Given the description of an element on the screen output the (x, y) to click on. 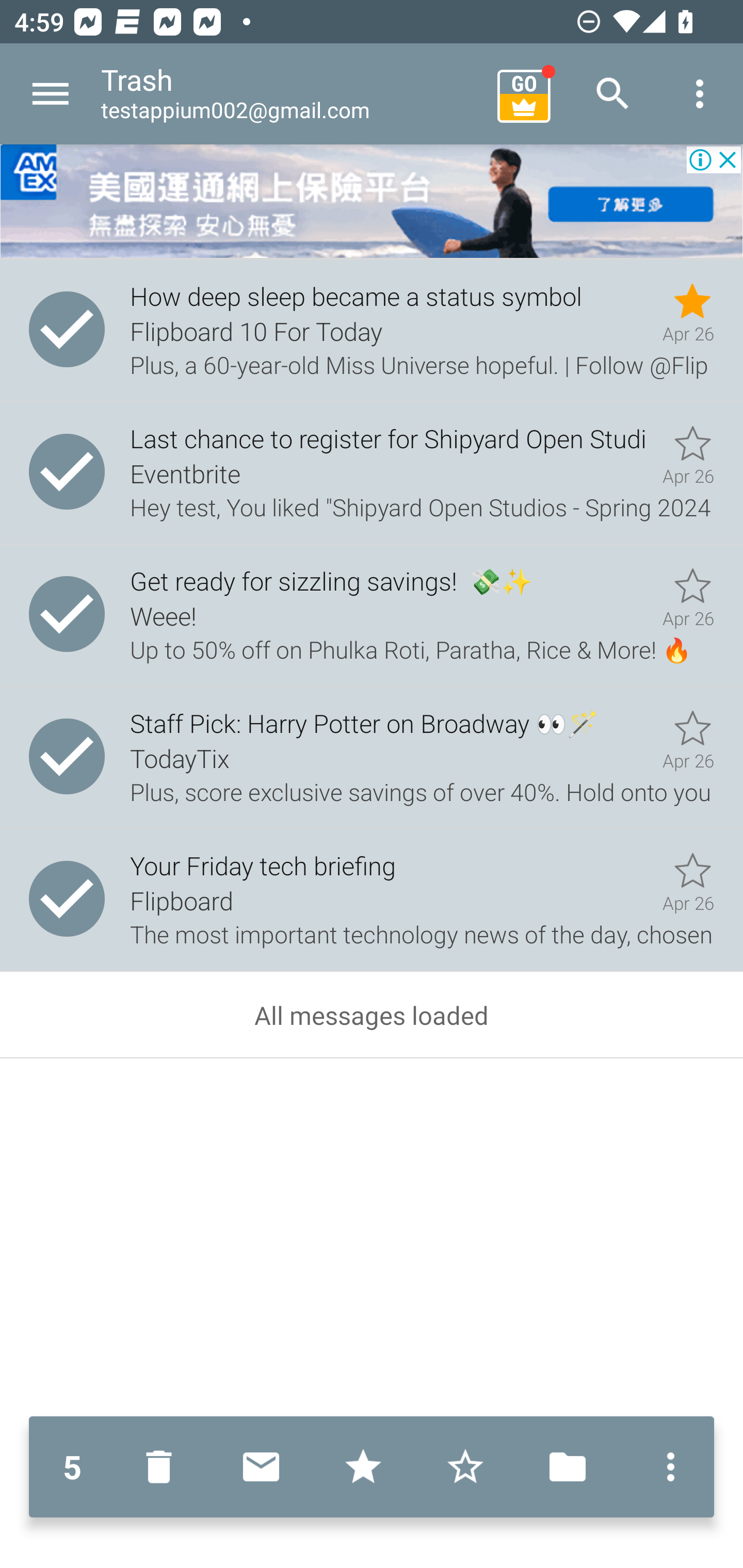
Navigate up (50, 93)
Trash testappium002@gmail.com (291, 93)
Search (612, 93)
More options (699, 93)
B31689901 (371, 202)
All messages loaded (371, 1015)
5 5 messages (71, 1466)
Move to Deleted (162, 1466)
Mark unread (261, 1466)
Mark with stars (363, 1466)
Remove stars (465, 1466)
Move to folder… (567, 1466)
More options (666, 1466)
